Given the description of an element on the screen output the (x, y) to click on. 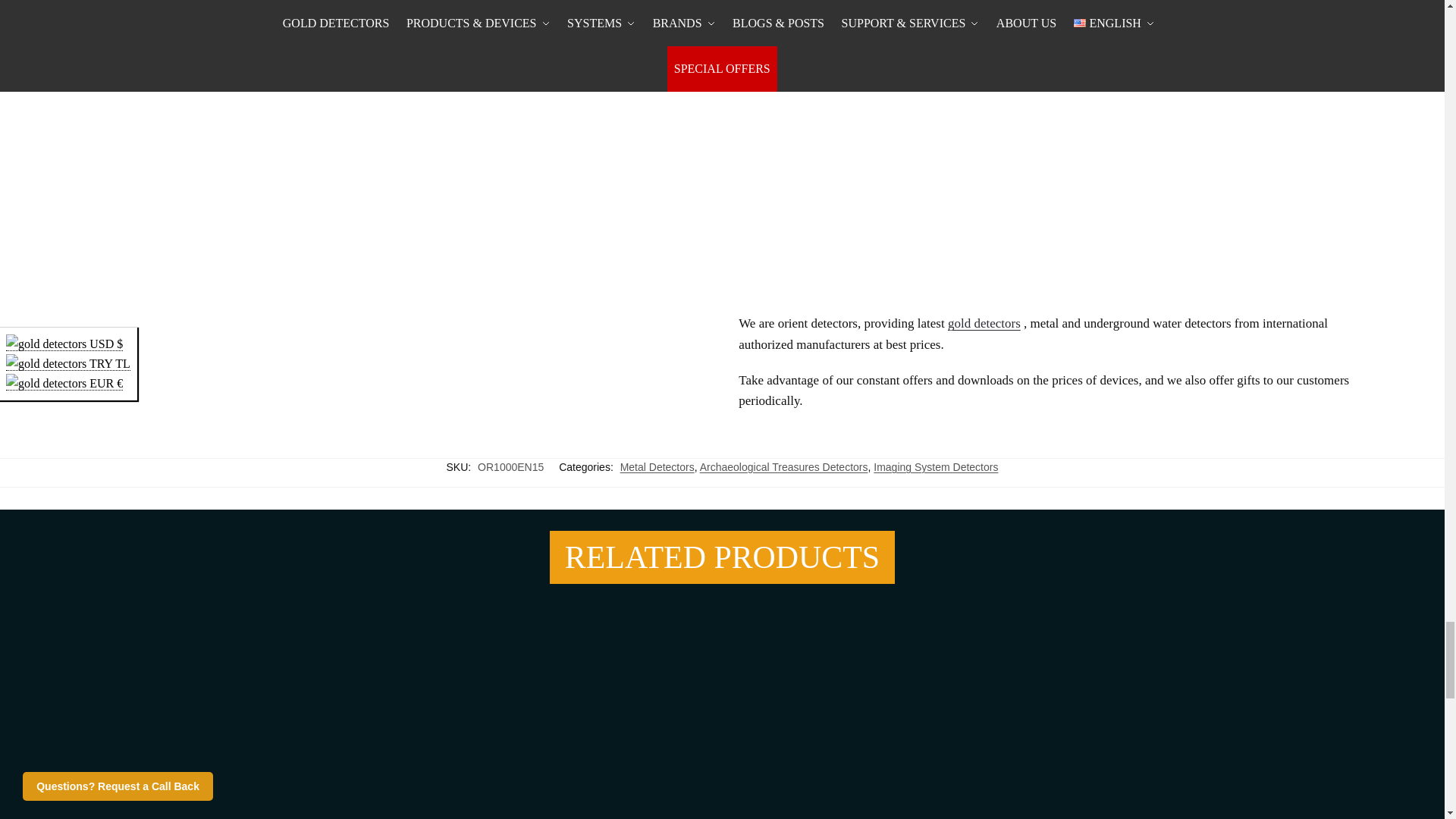
Pulse Dive (1021, 708)
Evolution NTX (421, 708)
Impact Metal Detector (721, 708)
